Given the description of an element on the screen output the (x, y) to click on. 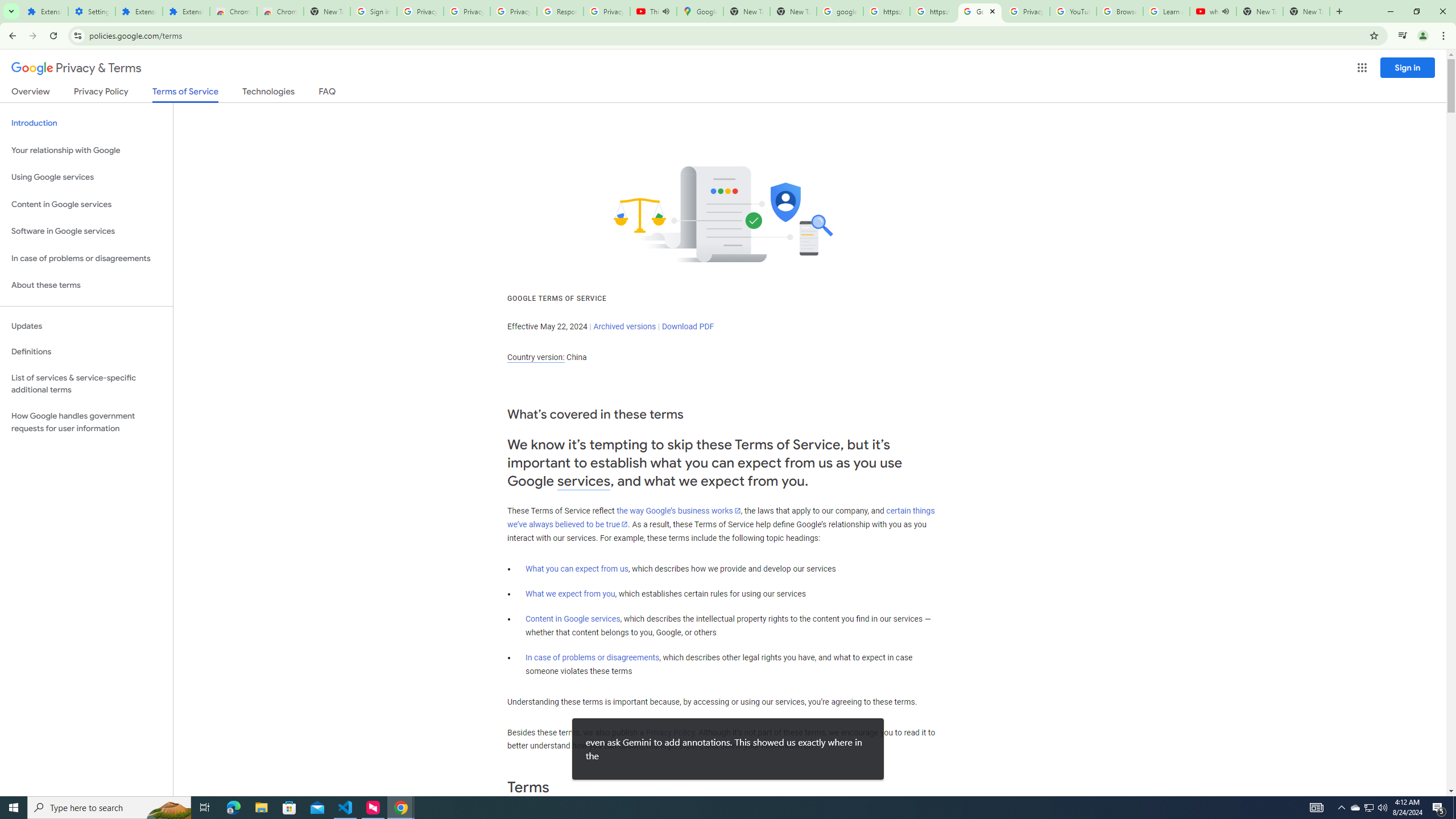
New Tab (1306, 11)
Archived versions (624, 326)
Software in Google services (86, 230)
Sign in - Google Accounts (373, 11)
New Tab (326, 11)
https://scholar.google.com/ (886, 11)
How Google handles government requests for user information (86, 422)
Chrome Web Store (233, 11)
